Given the description of an element on the screen output the (x, y) to click on. 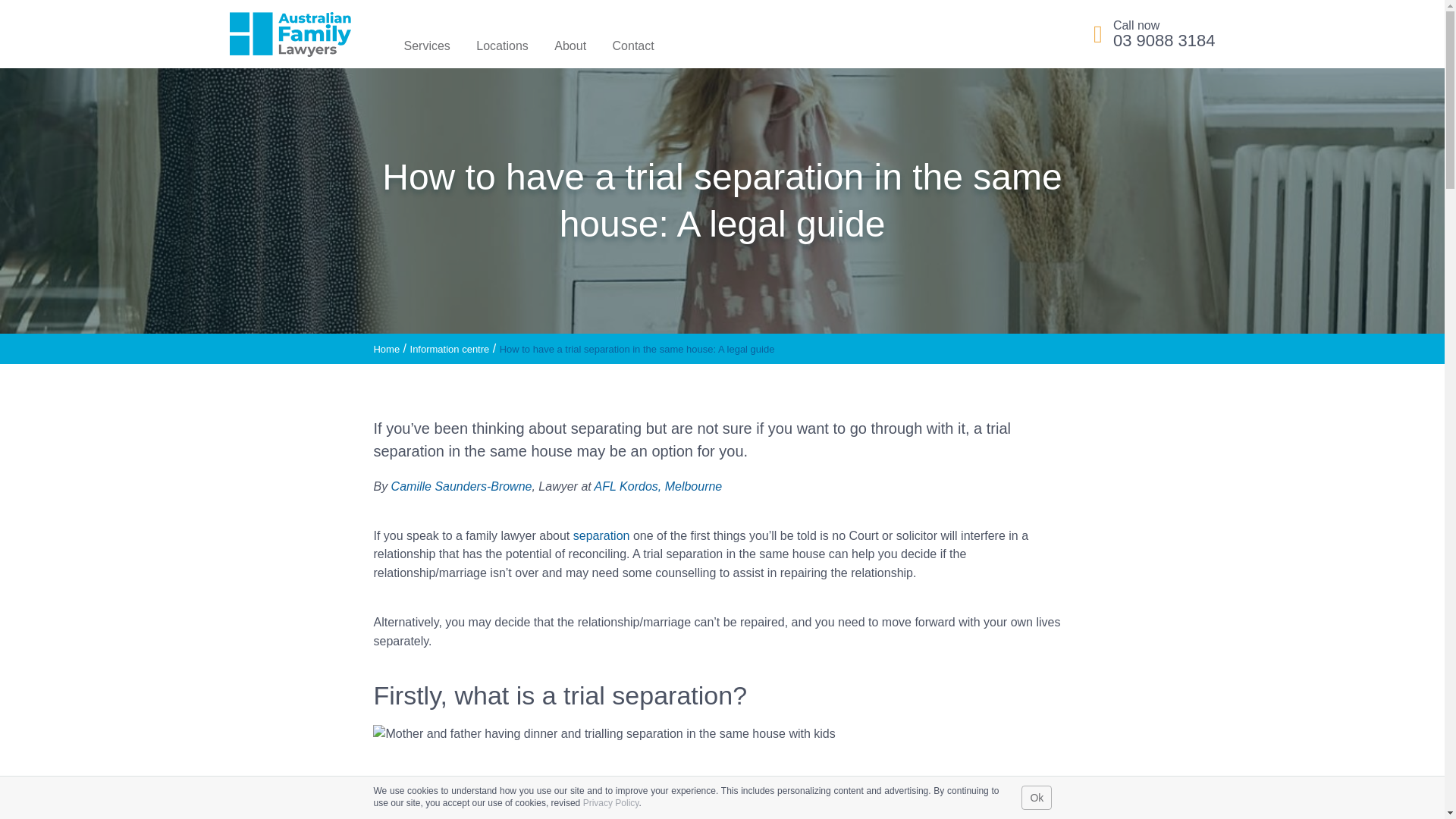
Information centre (449, 348)
Services (426, 46)
About (570, 46)
Camille Saunders-Browne (461, 486)
Contact (632, 46)
Contact (632, 46)
Locations (502, 46)
Home (385, 348)
Australian Family Lawyers (289, 34)
About (570, 46)
